Given the description of an element on the screen output the (x, y) to click on. 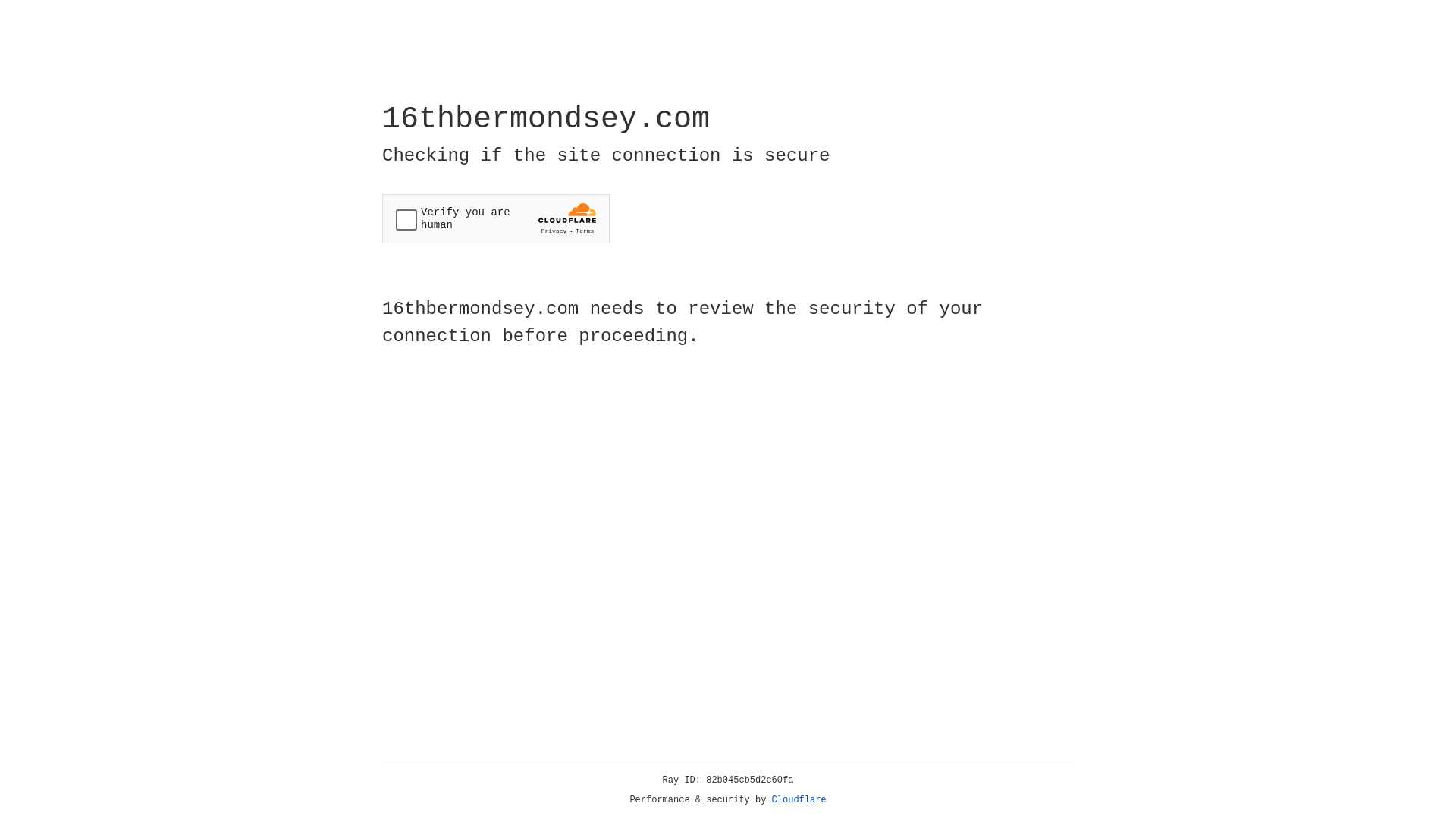
Cloudflare Element type: text (798, 799)
Widget containing a Cloudflare security challenge Element type: hover (495, 218)
